Given the description of an element on the screen output the (x, y) to click on. 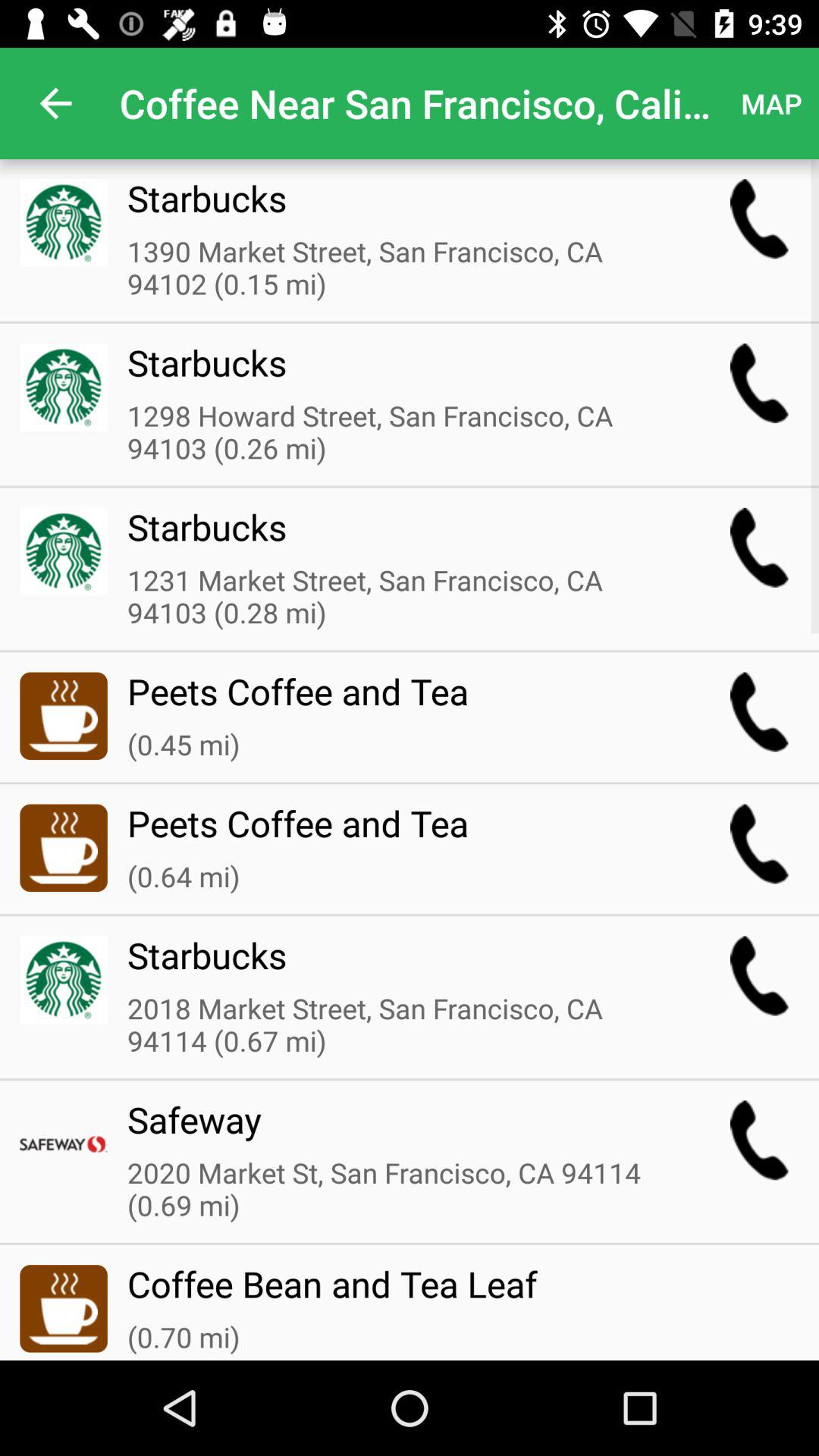
choose item below starbucks icon (398, 432)
